Given the description of an element on the screen output the (x, y) to click on. 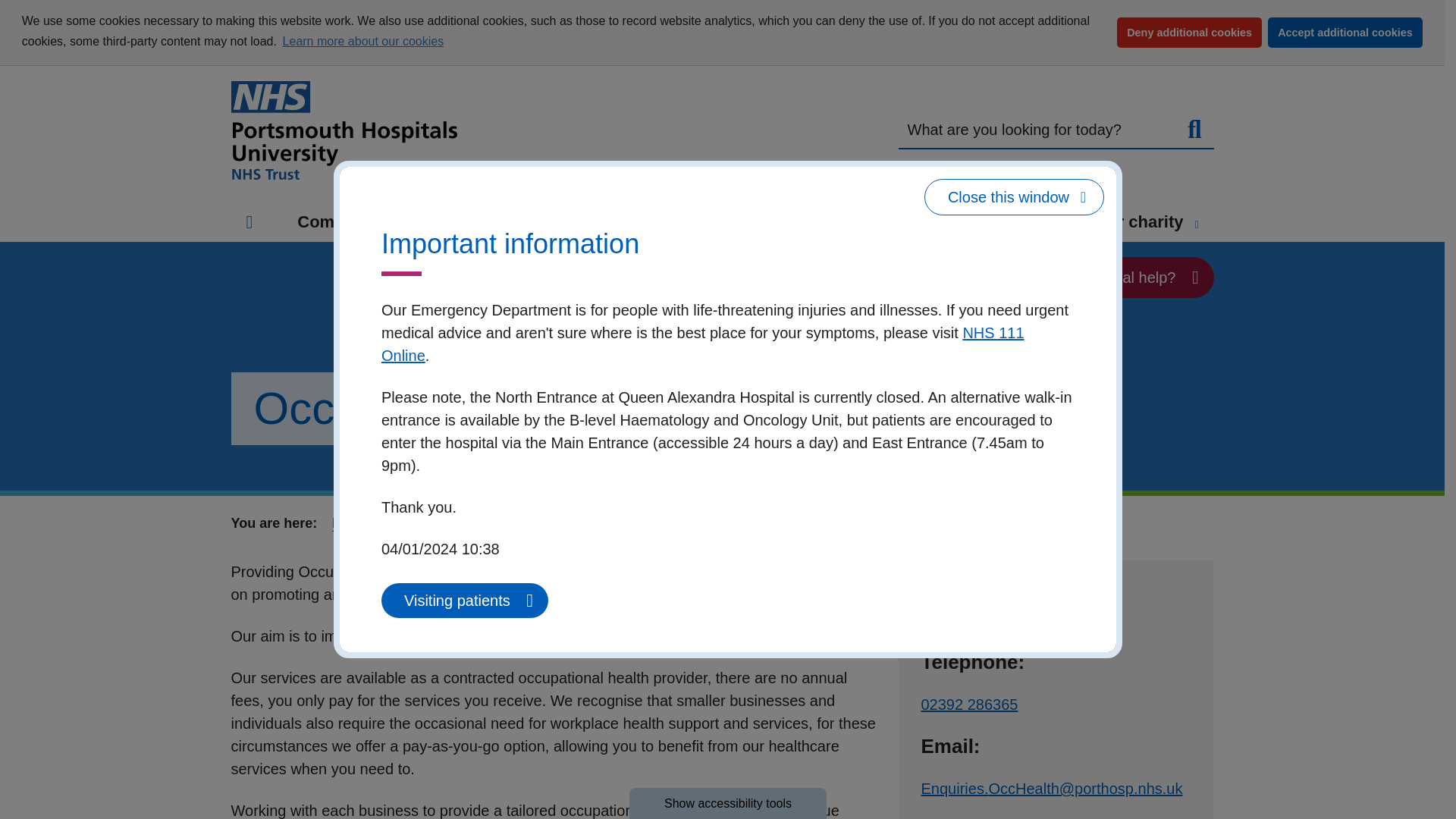
Learn more about our cookies (362, 41)
Coming to PHU (365, 221)
Visiting patients (464, 600)
Close this window (1013, 197)
Changing your appointment (358, 110)
Waiting list Validation (339, 137)
Shops and facilities (575, 3)
Coming to PHU (433, 225)
Search (1193, 130)
NHS 111 Online (703, 343)
Outpatients (295, 54)
Need urgent medical help? (1091, 277)
Visiting patients (464, 600)
Home (248, 221)
Portsmouth Hospitals University homepage (343, 130)
